Given the description of an element on the screen output the (x, y) to click on. 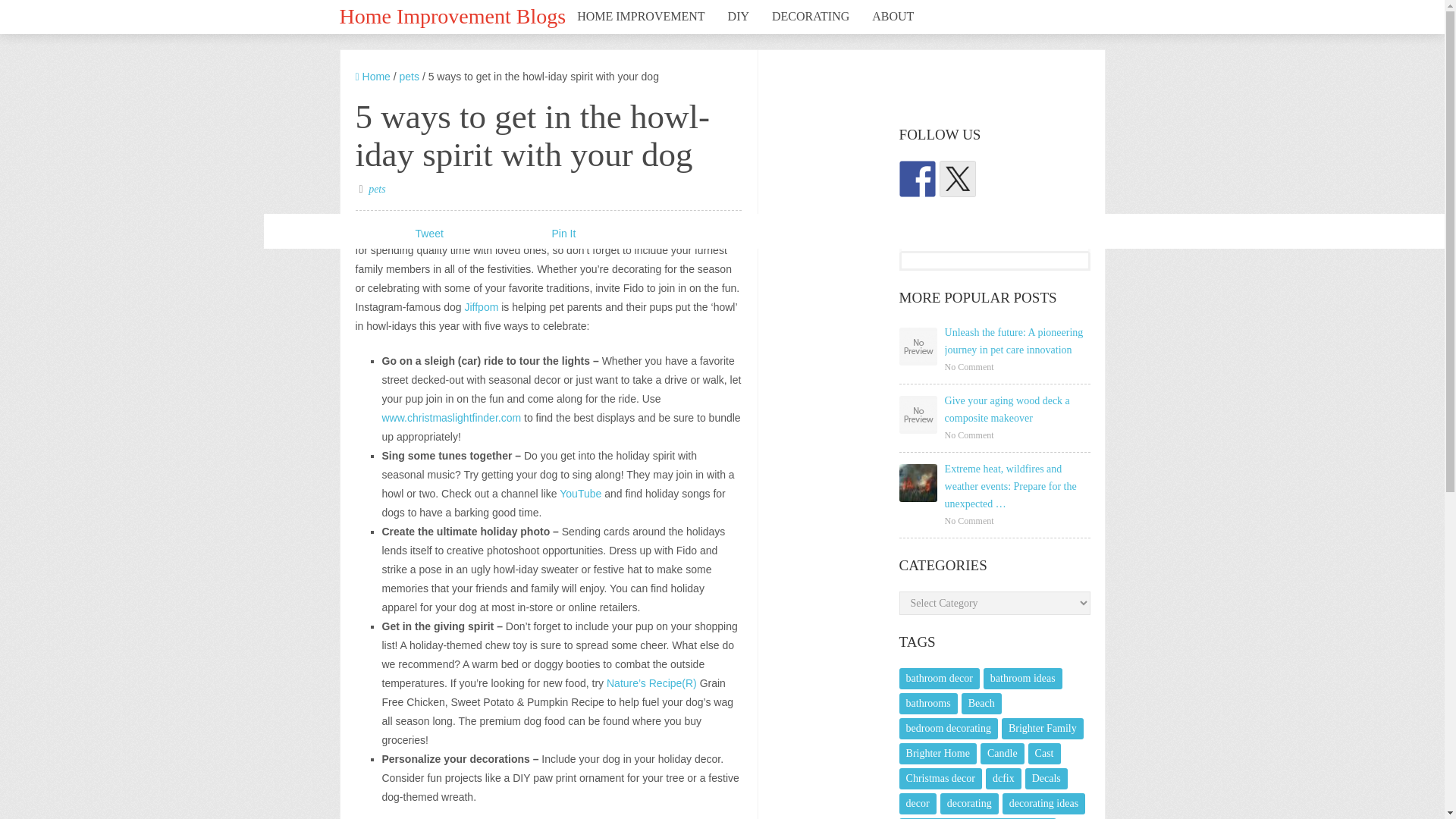
Home Improvement Blogs (452, 14)
HOME IMPROVEMENT (641, 17)
ABOUT (892, 17)
Pin It (563, 233)
pets (408, 76)
YouTube (580, 493)
DIY (738, 17)
DECORATING (810, 17)
Give your aging wood deck a composite makeover (1017, 409)
